Given the description of an element on the screen output the (x, y) to click on. 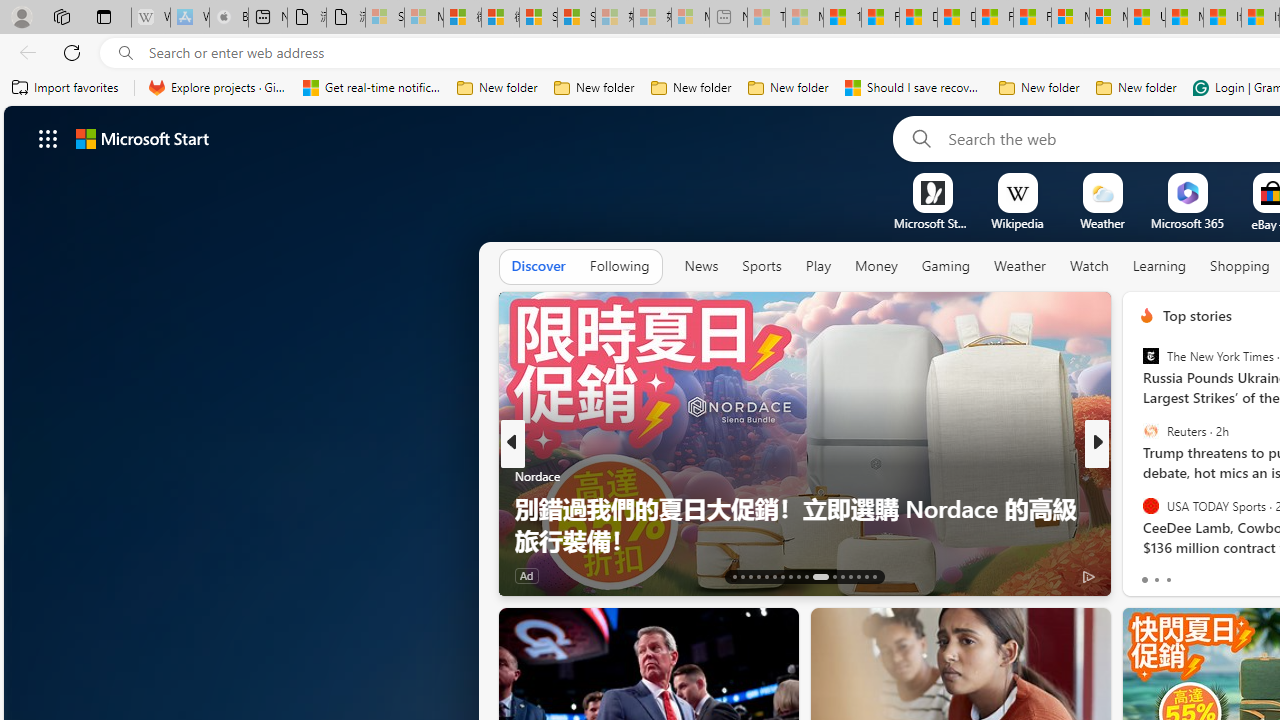
Drinking tea every day is proven to delay biological aging (956, 17)
Top stories (1196, 315)
Weather (1020, 265)
Reuters (1149, 431)
Shopping (1240, 265)
Money (876, 267)
AutomationID: tab-24 (833, 576)
115 Like (1151, 574)
The New York Times (1149, 356)
AutomationID: tab-13 (733, 576)
App launcher (47, 138)
Watch (1089, 267)
Marine life - MSN - Sleeping (804, 17)
